Given the description of an element on the screen output the (x, y) to click on. 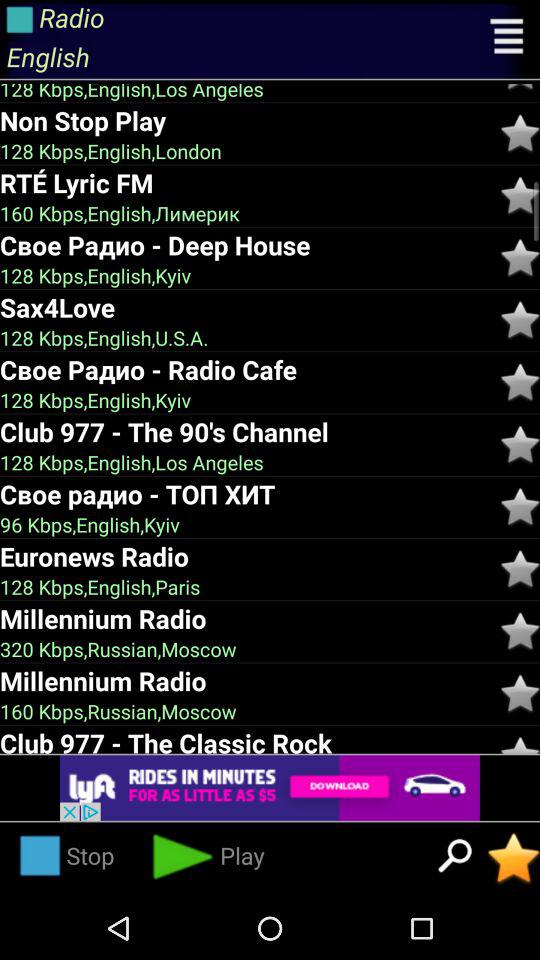
select the favorite radio station (513, 858)
